Given the description of an element on the screen output the (x, y) to click on. 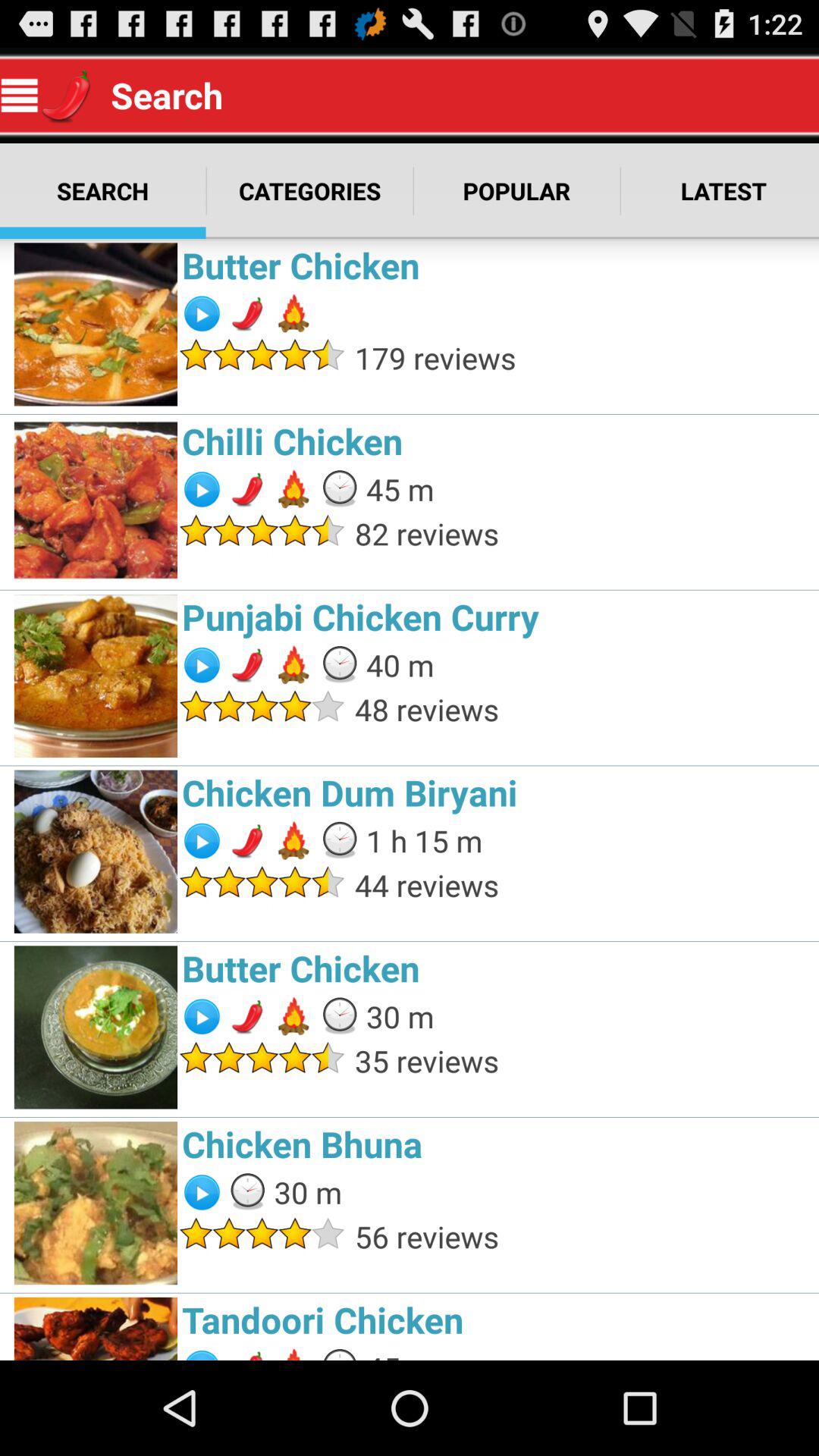
click the icon below the chicken dum biryani app (424, 840)
